Given the description of an element on the screen output the (x, y) to click on. 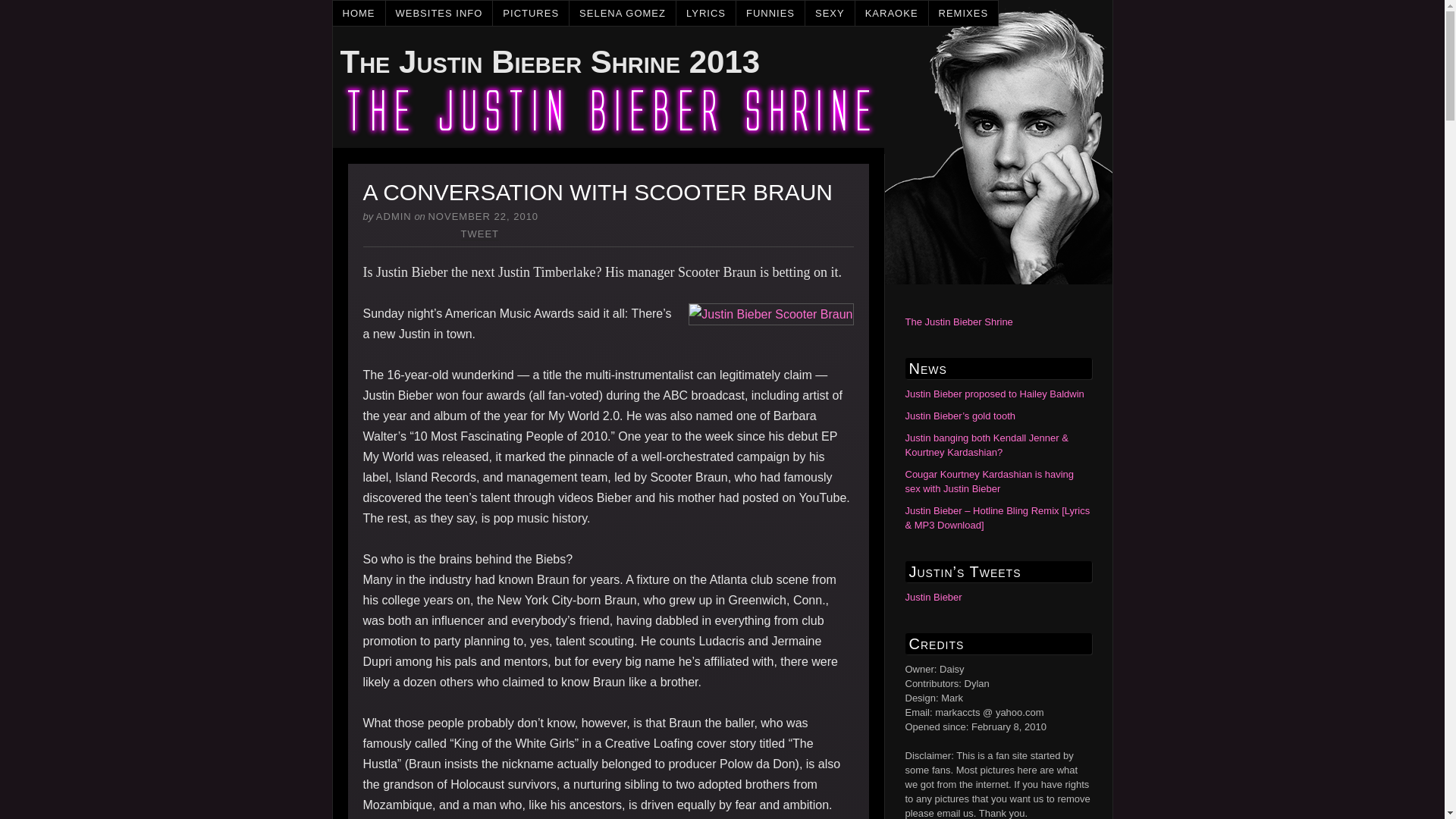
Justin Bieber (933, 596)
Cougar Kourtney Kardashian is having sex with Justin Bieber (989, 481)
KARAOKE (892, 13)
HOME (358, 13)
FUNNIES (770, 13)
LYRICS (706, 13)
SEXY (830, 13)
TWEET (480, 234)
Justin Bieber proposed to Hailey Baldwin (994, 393)
The Justin Bieber Shrine (959, 321)
WEBSITES INFO (439, 13)
A Conversation With Scooter Braun (770, 314)
SELENA GOMEZ (623, 13)
PICTURES (531, 13)
2010-11-22 (483, 215)
